Given the description of an element on the screen output the (x, y) to click on. 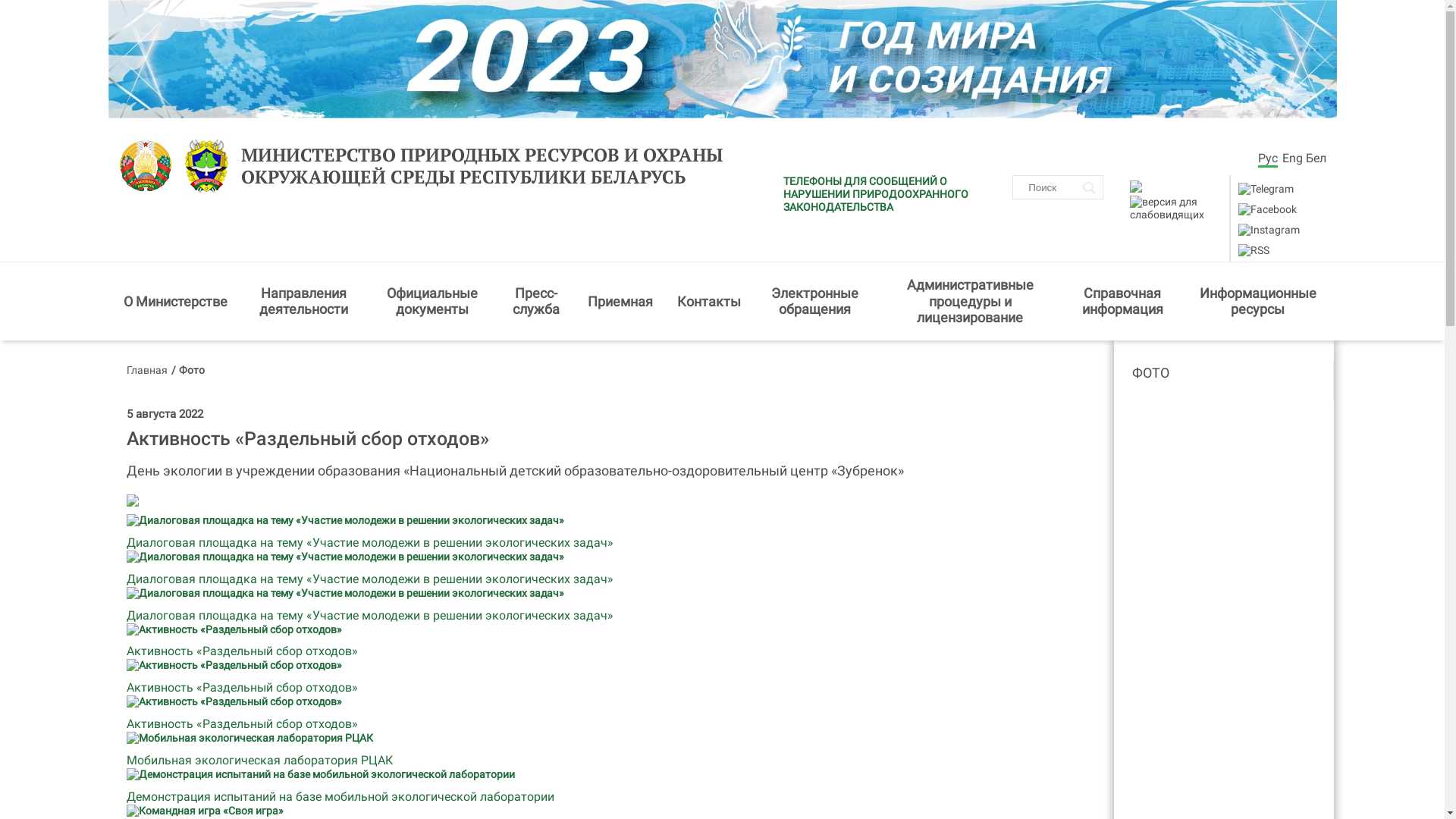
Facebook Element type: hover (1267, 209)
Telegram Element type: hover (1265, 188)
Facebook Element type: hover (1265, 209)
RSS Element type: hover (1252, 250)
Eng Element type: text (1291, 157)
Instagram Element type: hover (1268, 229)
Telegram Element type: hover (1264, 188)
Instagram Element type: hover (1267, 229)
RSS Element type: hover (1253, 250)
